Given the description of an element on the screen output the (x, y) to click on. 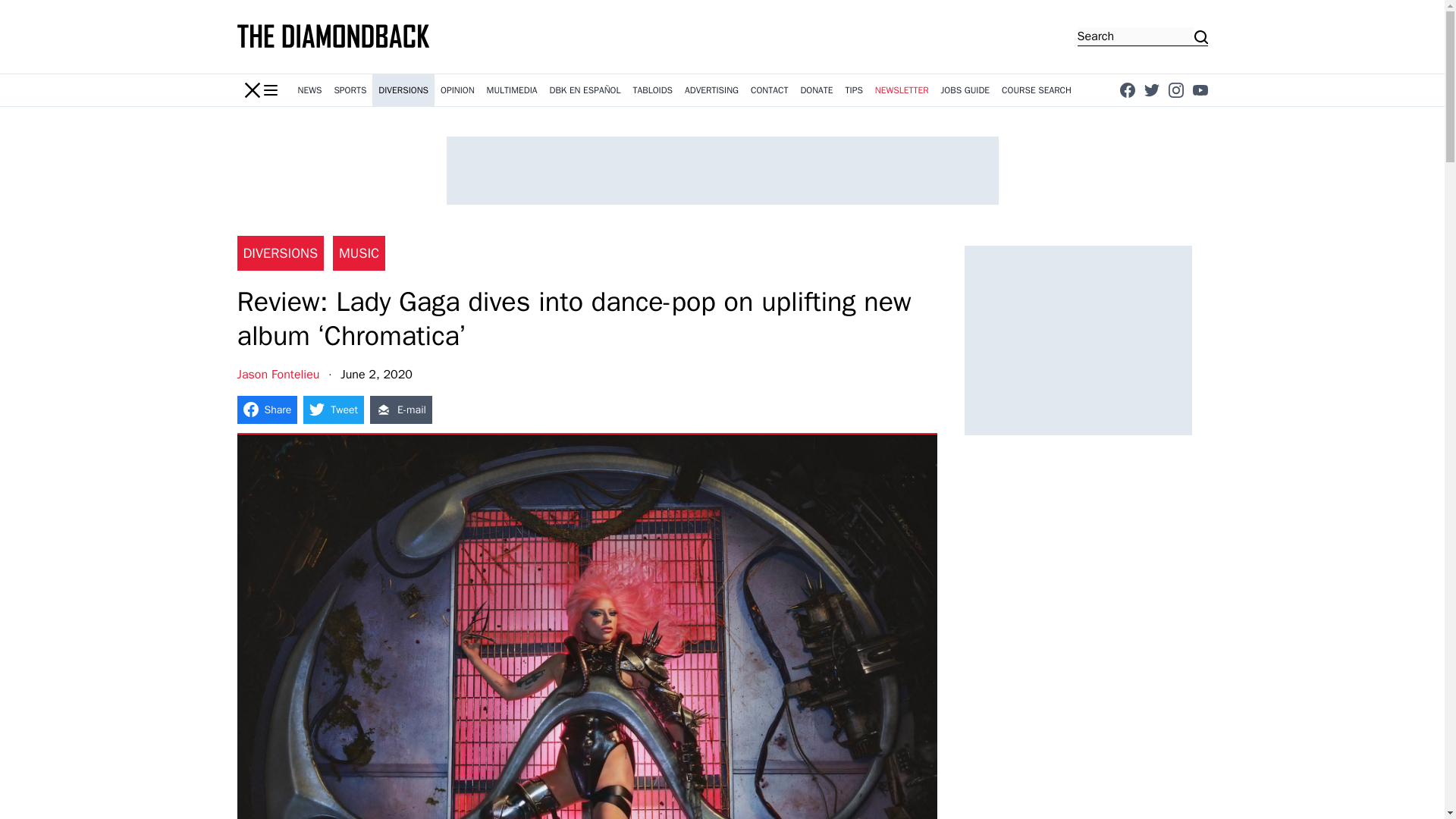
Tabloids (652, 90)
DONATE (815, 90)
Donate (815, 90)
Advertising (711, 90)
TABLOIDS (652, 90)
NEWSLETTER (901, 90)
JOBS GUIDE (964, 90)
MULTIMEDIA (511, 90)
CONTACT (768, 90)
Multimedia (511, 90)
